Given the description of an element on the screen output the (x, y) to click on. 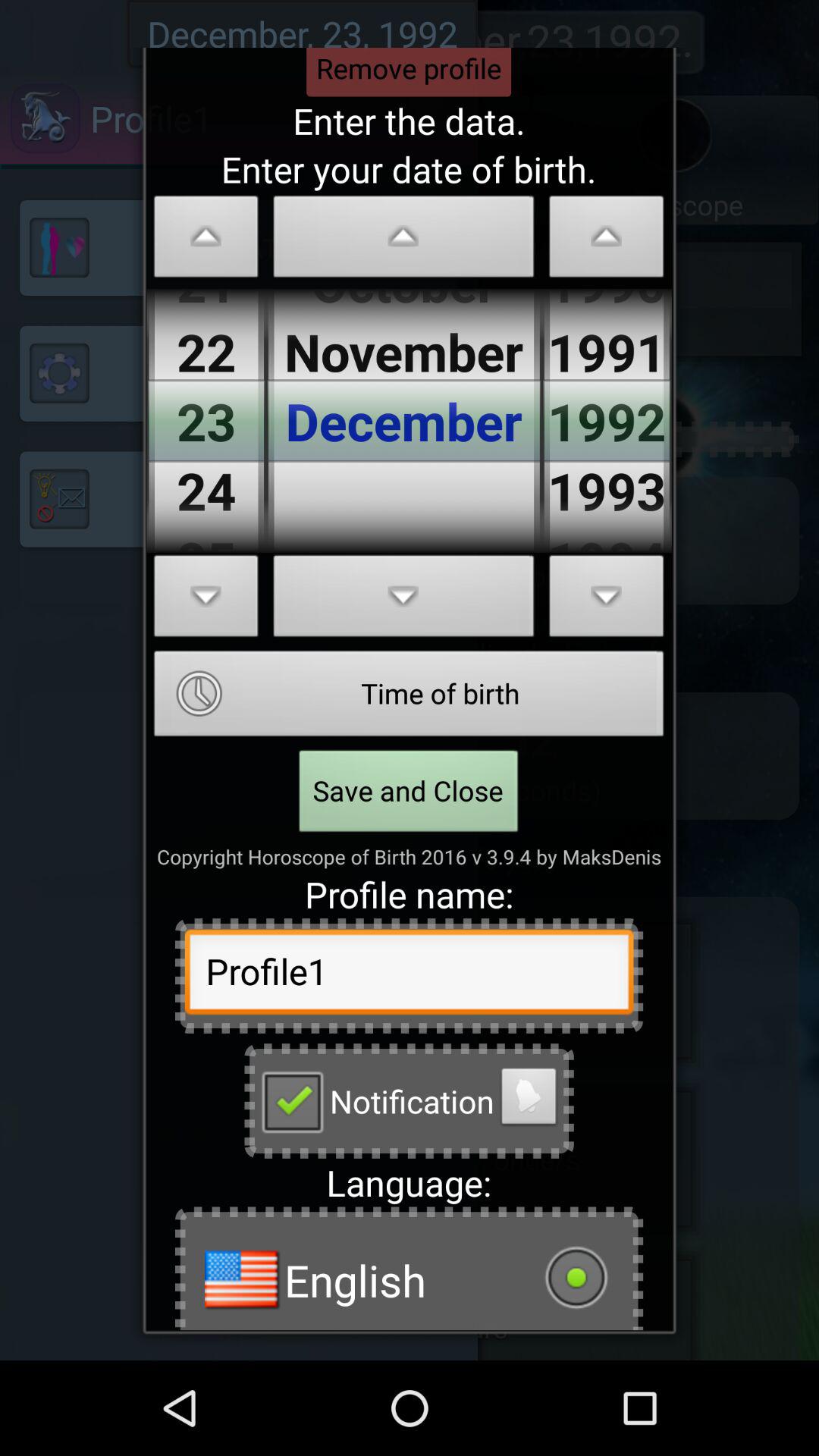
select month (404, 240)
